Given the description of an element on the screen output the (x, y) to click on. 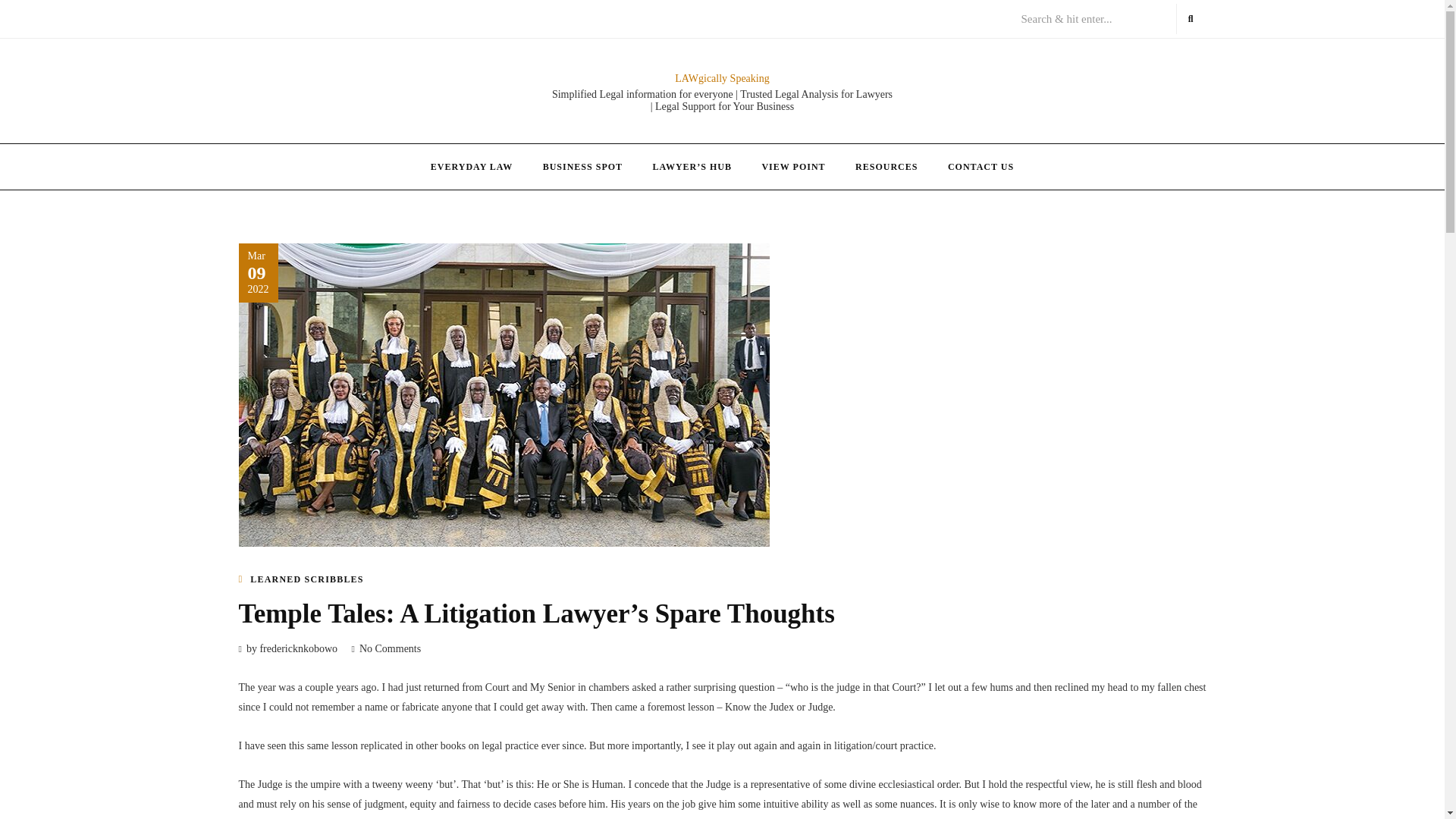
BUSINESS SPOT (582, 166)
LEARNED SCRIBBLES (306, 579)
VIEW POINT (793, 166)
RESOURCES (886, 166)
LAWgically Speaking (721, 78)
EVERYDAY LAW (470, 166)
CONTACT US (980, 166)
